Given the description of an element on the screen output the (x, y) to click on. 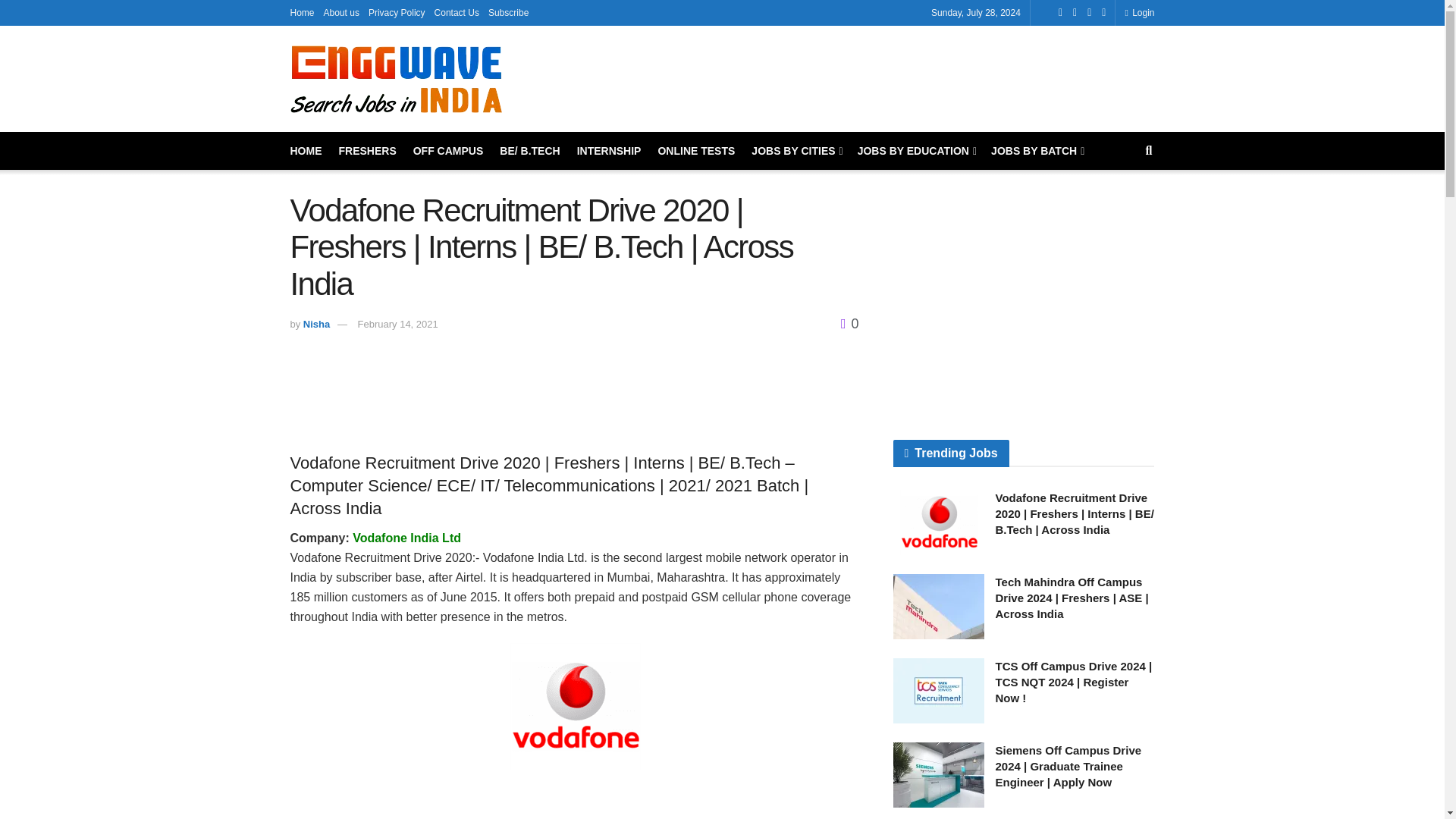
ONLINE TESTS (696, 150)
INTERNSHIP (609, 150)
Privacy Policy (396, 12)
HOME (305, 150)
Home (301, 12)
FRESHERS (366, 150)
OFF CAMPUS (448, 150)
Contact Us (456, 12)
Subscribe (507, 12)
JOBS BY CITIES (795, 150)
Login (1139, 12)
About us (341, 12)
